Given the description of an element on the screen output the (x, y) to click on. 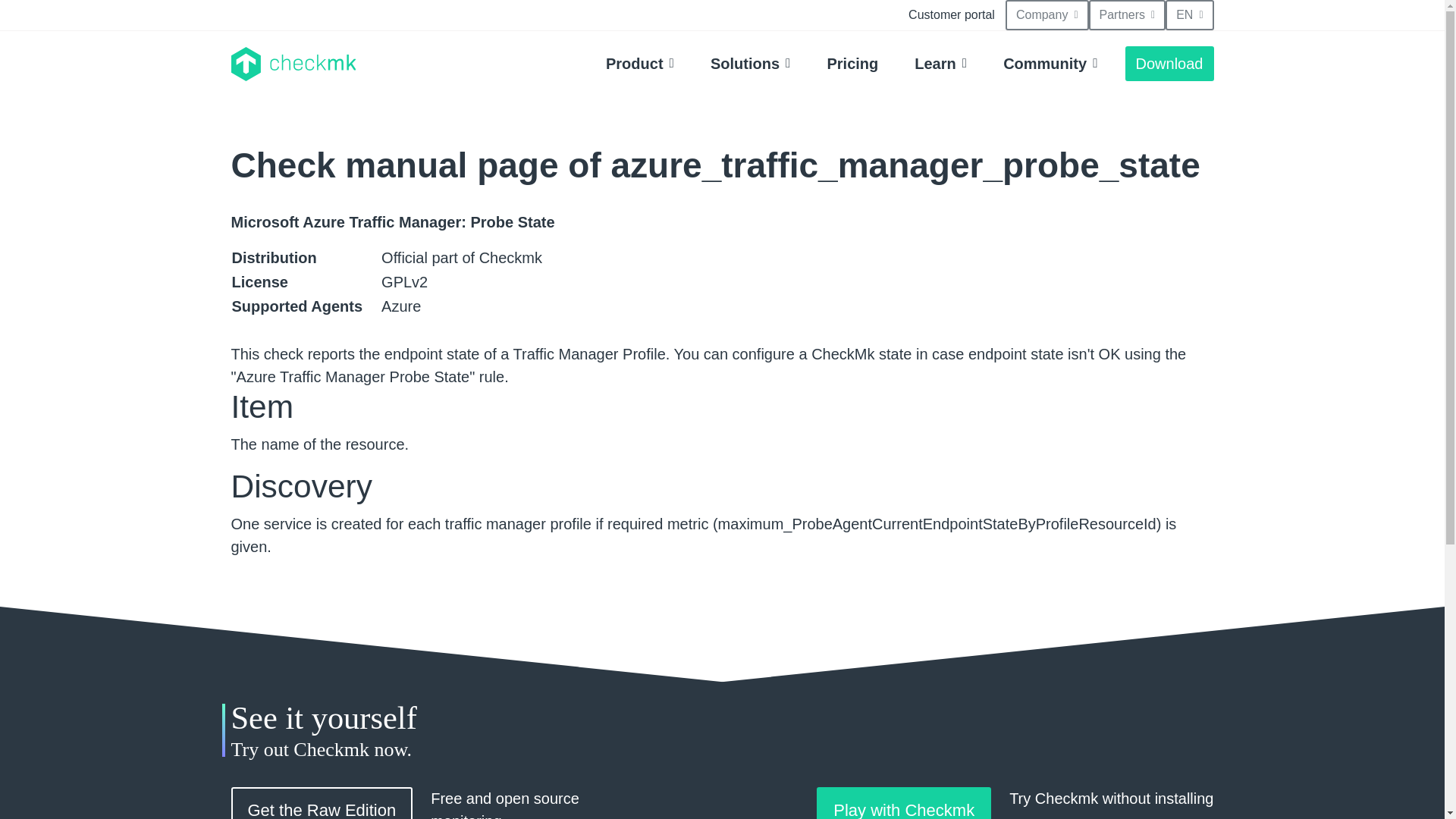
Checkmk (292, 63)
Customer portal (952, 15)
Solutions (750, 63)
Product (639, 63)
Partners (1127, 15)
EN (1189, 15)
Company (1047, 15)
